Given the description of an element on the screen output the (x, y) to click on. 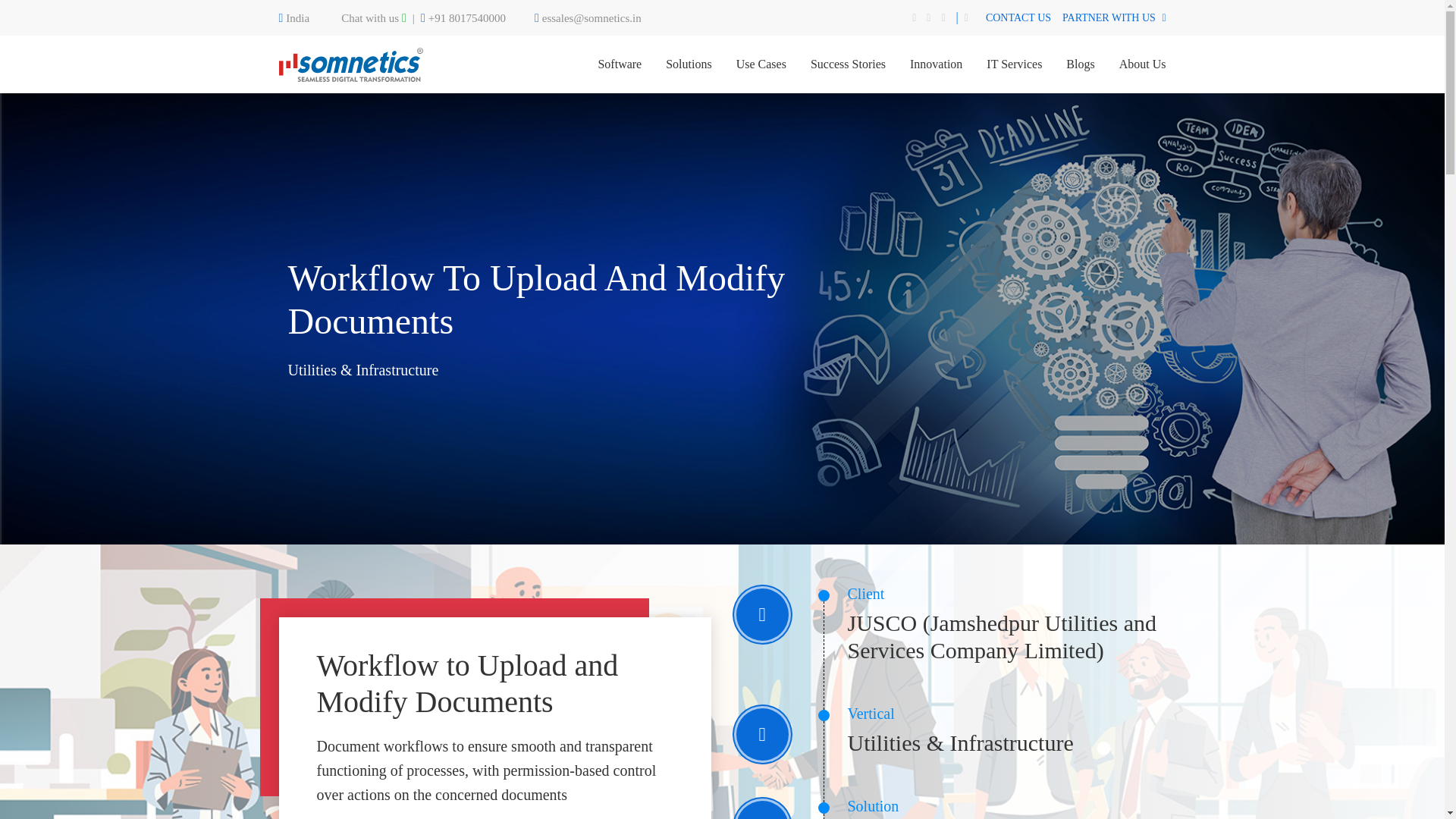
IT Services (1014, 64)
Success Stories (847, 64)
Chat with us (373, 18)
CONTACT US (1018, 17)
Innovation (936, 64)
PARTNER WITH US (1114, 17)
